Given the description of an element on the screen output the (x, y) to click on. 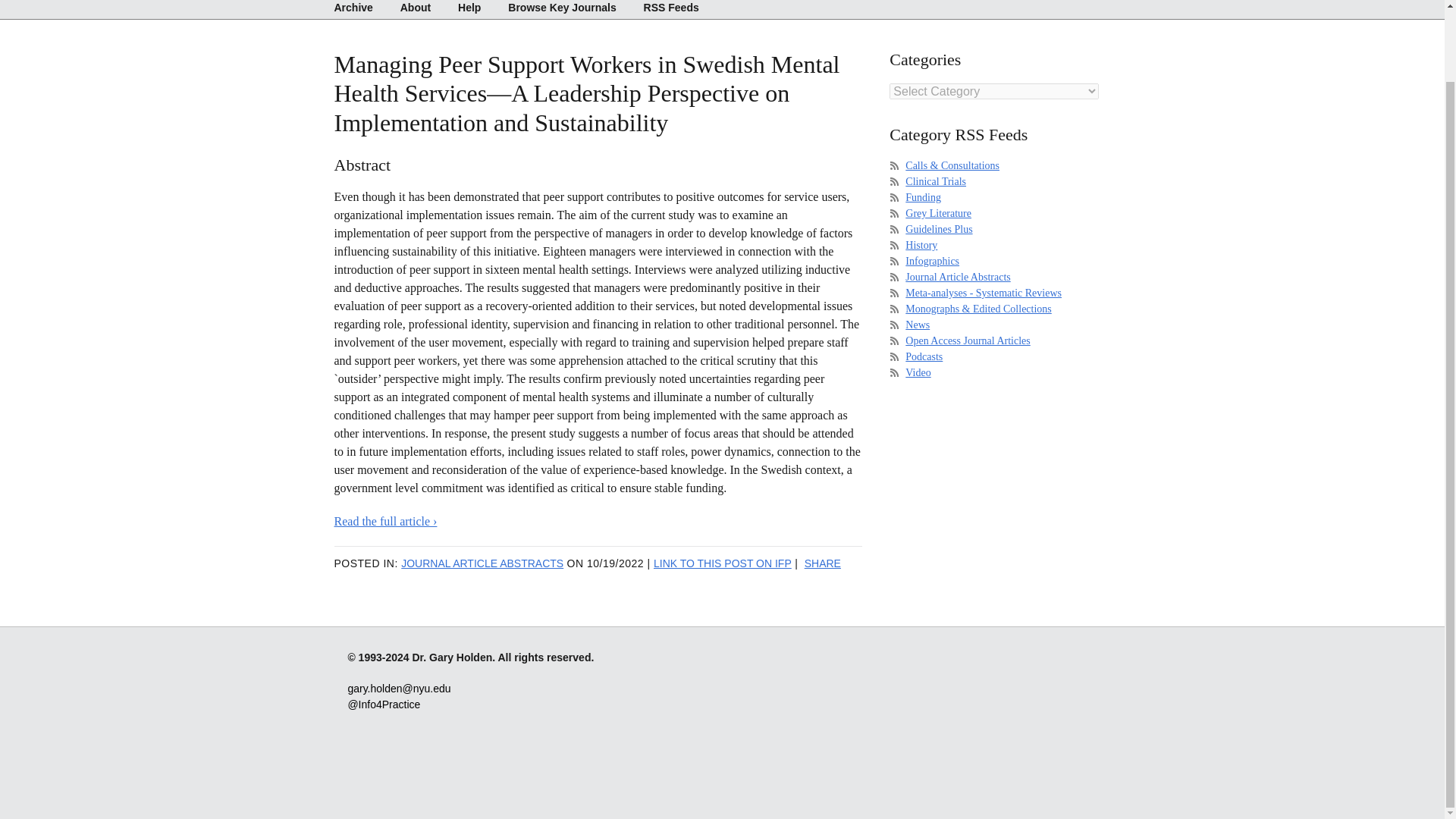
Journal Article Abstracts (957, 276)
LINK TO THIS POST ON IFP (722, 563)
Podcasts (923, 356)
Video (917, 372)
RSS Feeds (664, 9)
Archive (358, 9)
JOURNAL ARTICLE ABSTRACTS (482, 563)
History (921, 244)
Help (469, 9)
SHARE (823, 563)
Browse Key Journals (561, 9)
Meta-analyses - Systematic Reviews (983, 292)
About (415, 9)
News (917, 324)
Funding (922, 197)
